Given the description of an element on the screen output the (x, y) to click on. 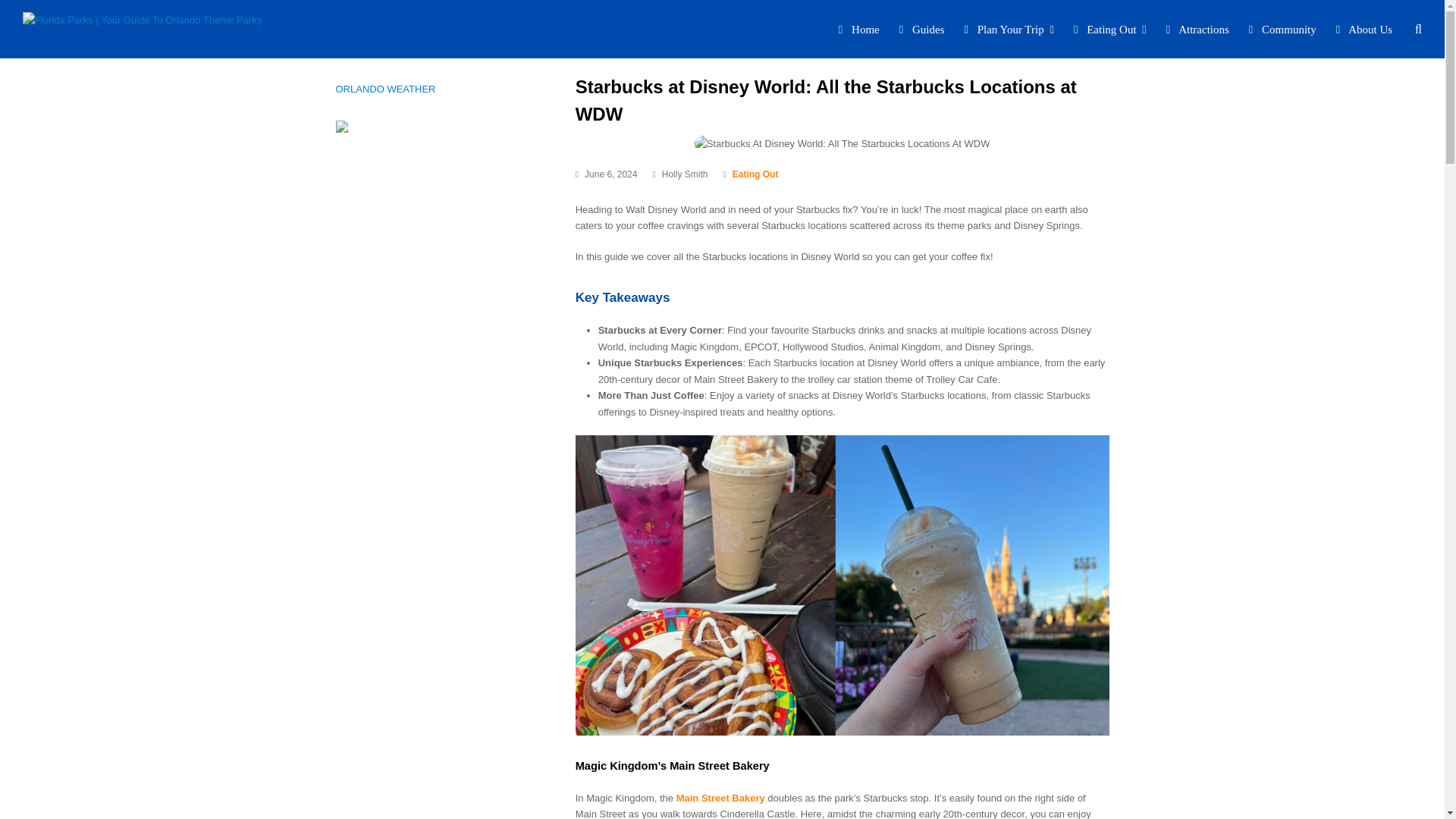
Eating Out (755, 173)
Attractions (1198, 29)
Eating Out (755, 173)
Holly Smith (684, 173)
Home (860, 29)
Guides (923, 29)
Community (1283, 29)
Main Street Bakery (721, 797)
Plan Your Trip (1009, 29)
Eating Out (1111, 29)
